Given the description of an element on the screen output the (x, y) to click on. 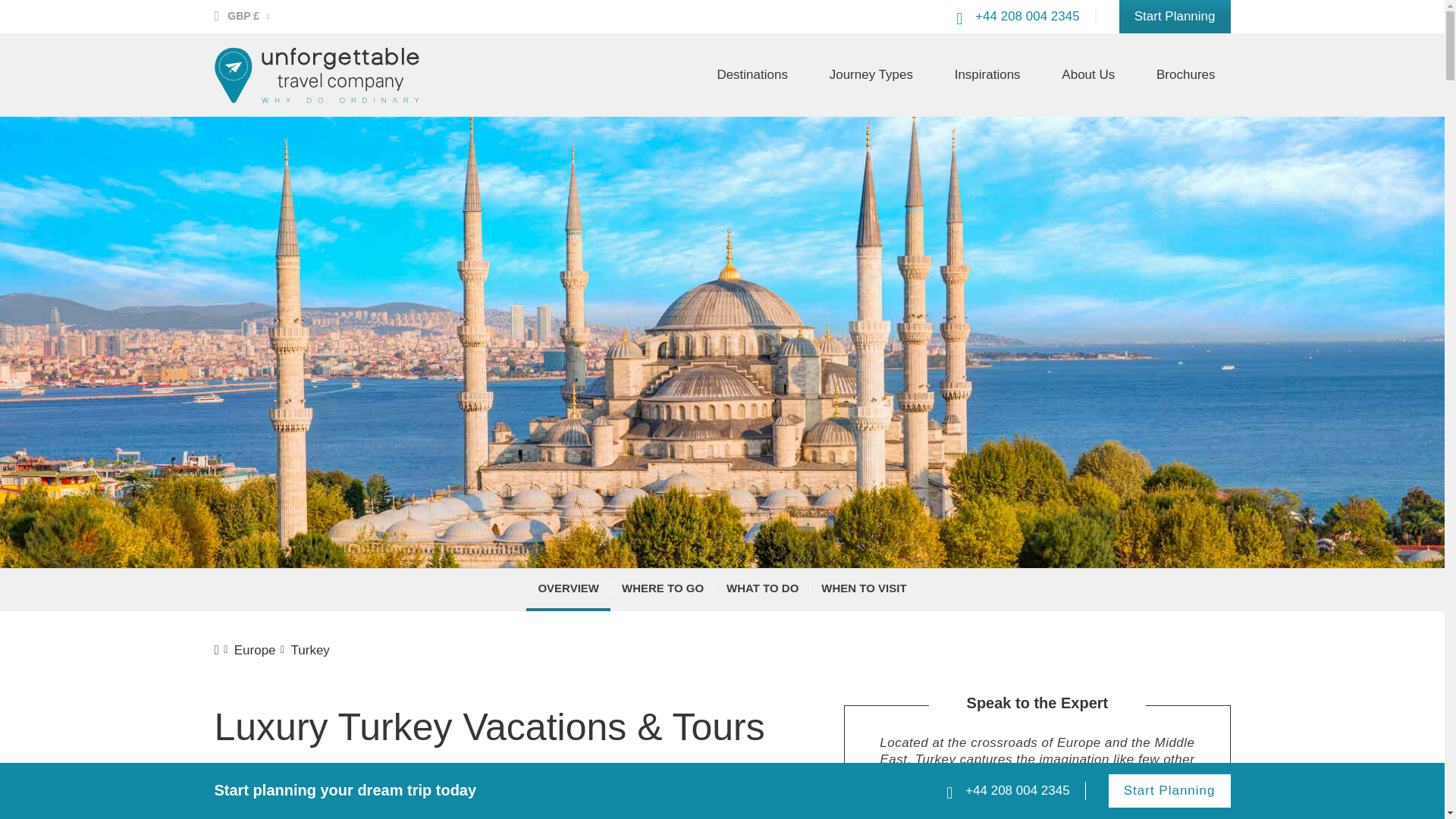
Start Planning (1174, 16)
Destinations (752, 75)
